Given the description of an element on the screen output the (x, y) to click on. 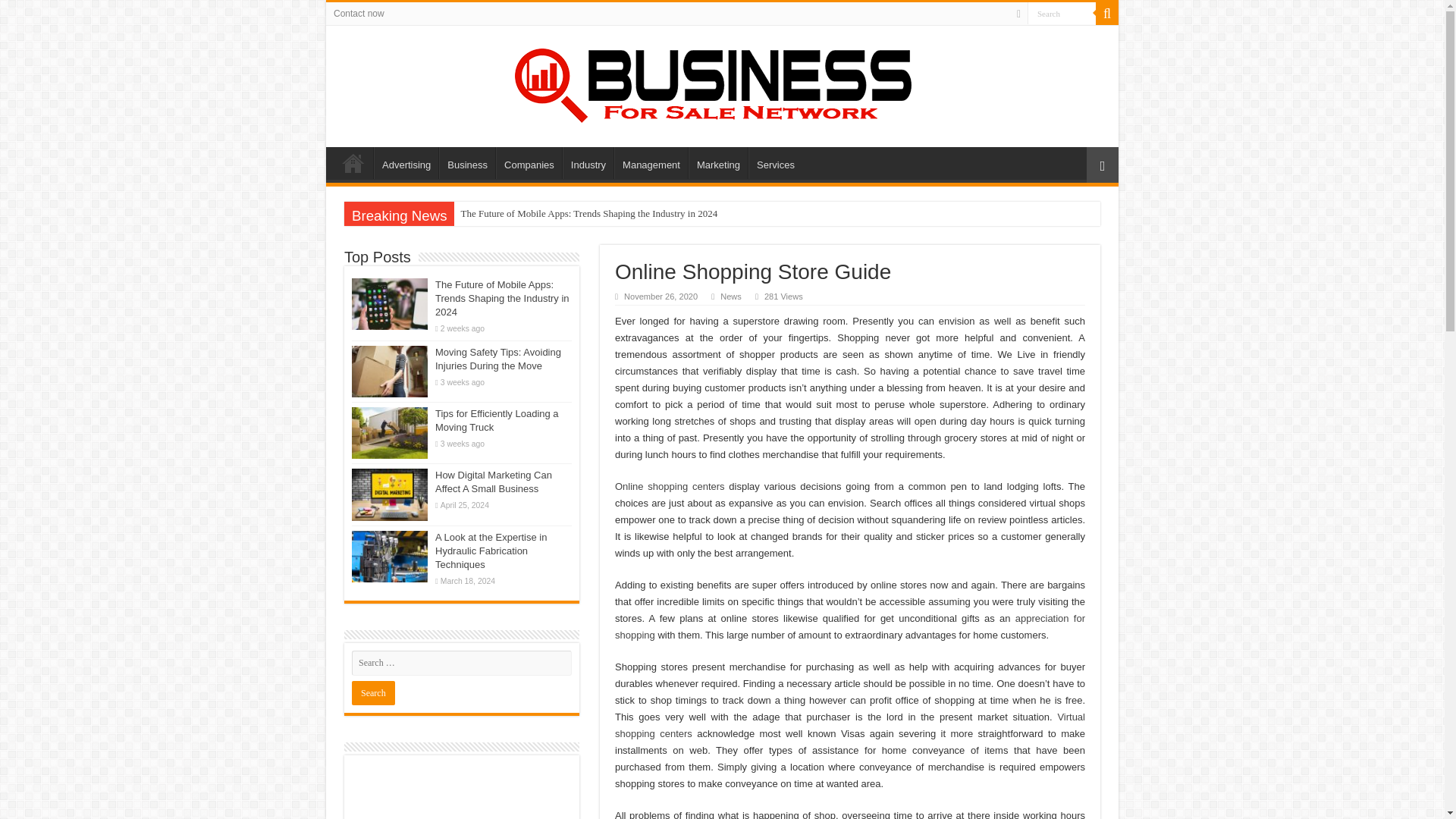
Search (1061, 13)
Advertising (406, 163)
Business (467, 163)
Online shopping centers (669, 486)
Contact now (358, 13)
Companies (529, 163)
Marketing (718, 163)
Search (1061, 13)
News (730, 296)
appreciation for shopping (849, 626)
Services (775, 163)
Search (1107, 13)
Home (352, 163)
